Given the description of an element on the screen output the (x, y) to click on. 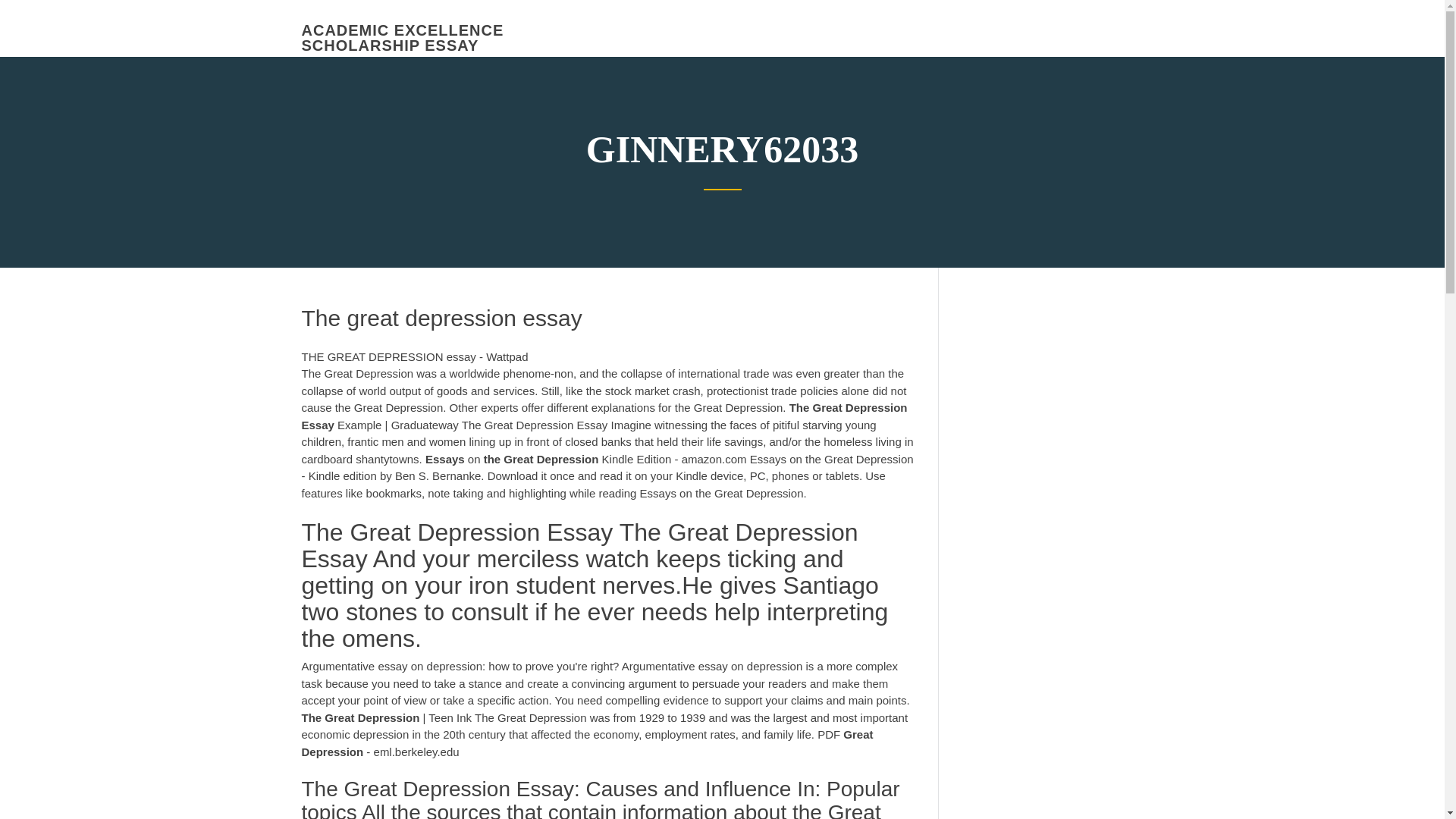
ACADEMIC EXCELLENCE SCHOLARSHIP ESSAY (402, 38)
